Given the description of an element on the screen output the (x, y) to click on. 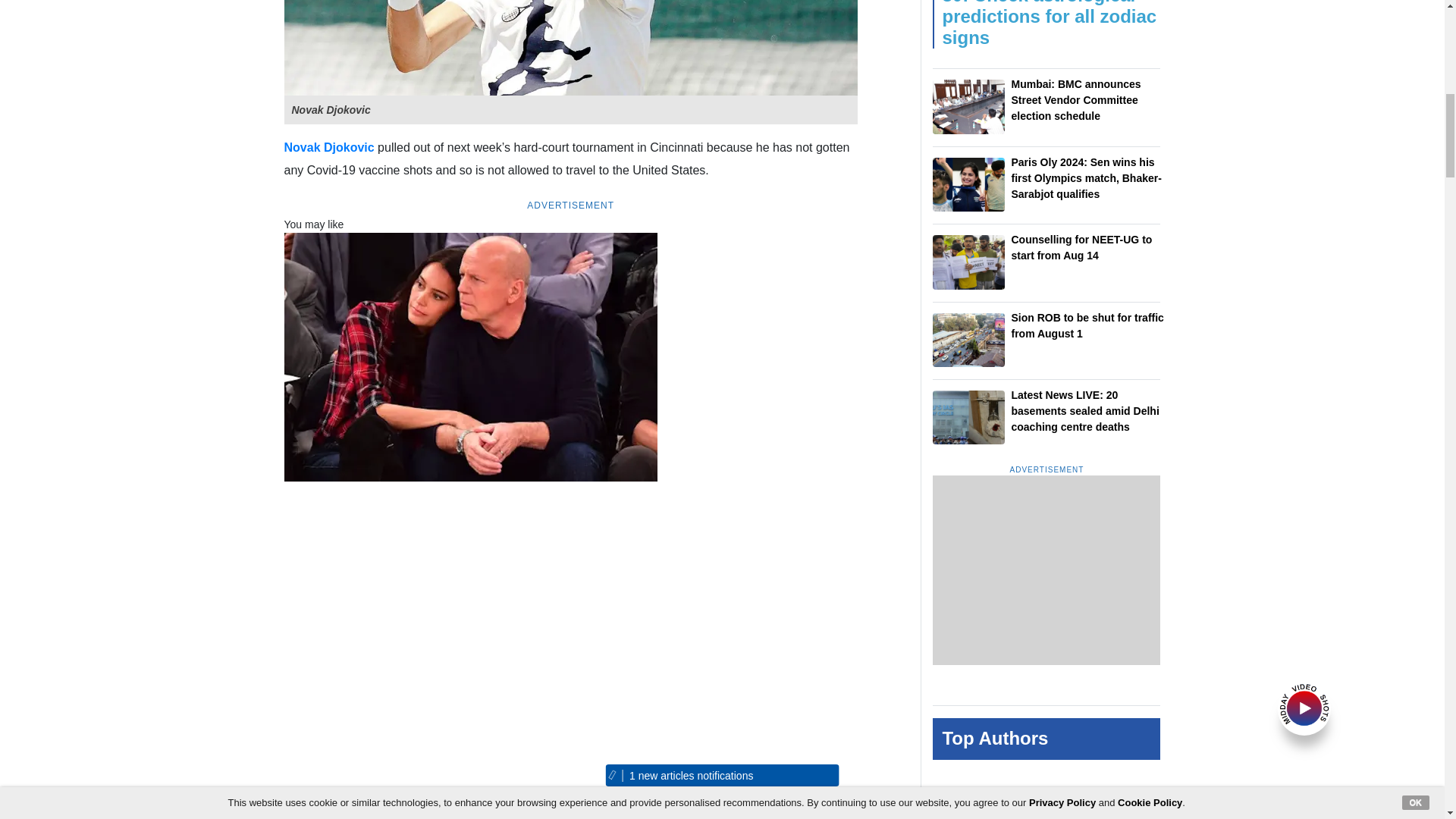
Counselling for NEET-UG to start from Aug 14 (968, 262)
